Given the description of an element on the screen output the (x, y) to click on. 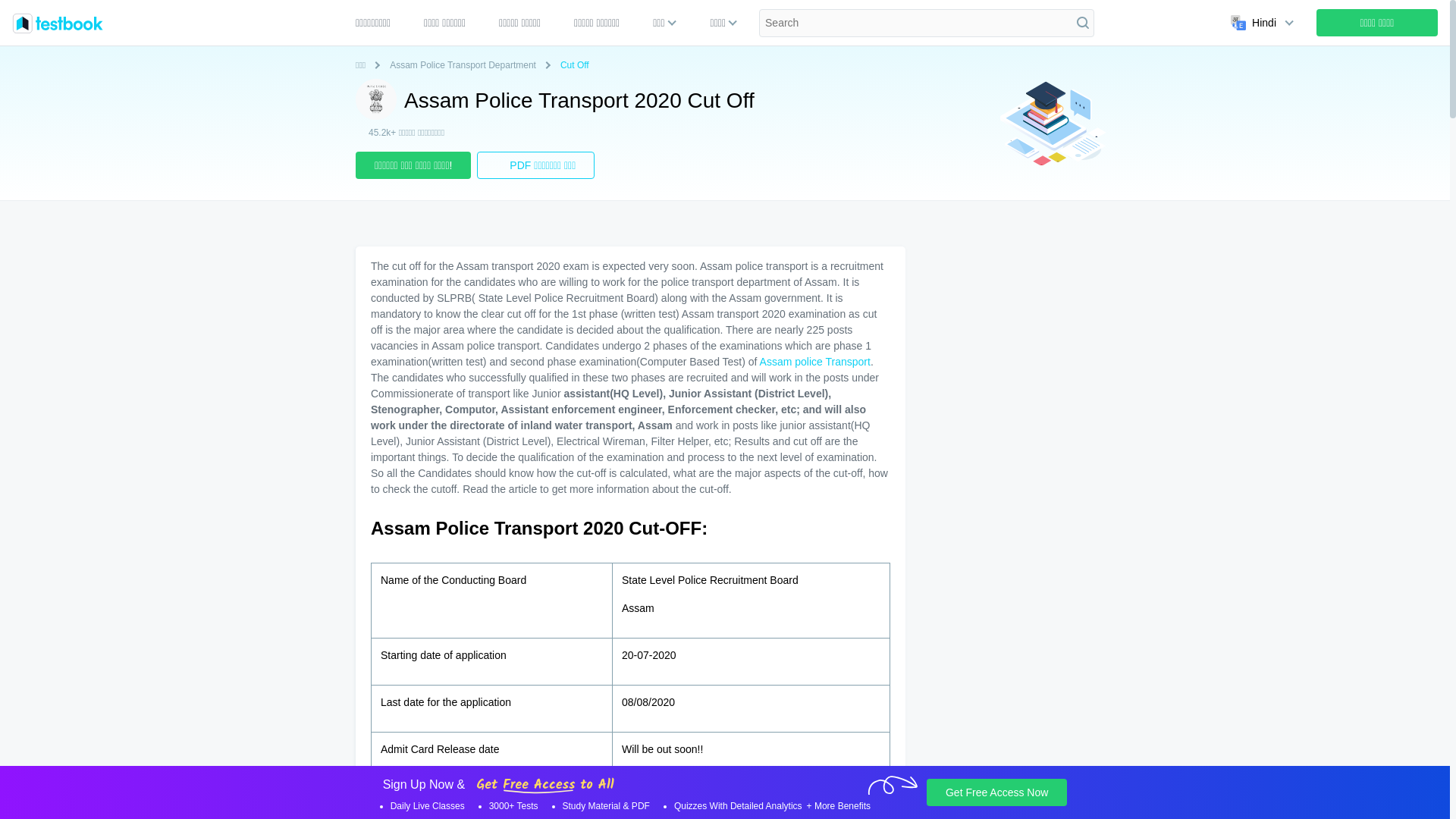
Assam Police Transport 2020 Cut Off (375, 98)
Assam police Transport (815, 361)
Sign Up (1377, 22)
Hindi (1259, 22)
Assam Police Transport Department (465, 65)
